Given the description of an element on the screen output the (x, y) to click on. 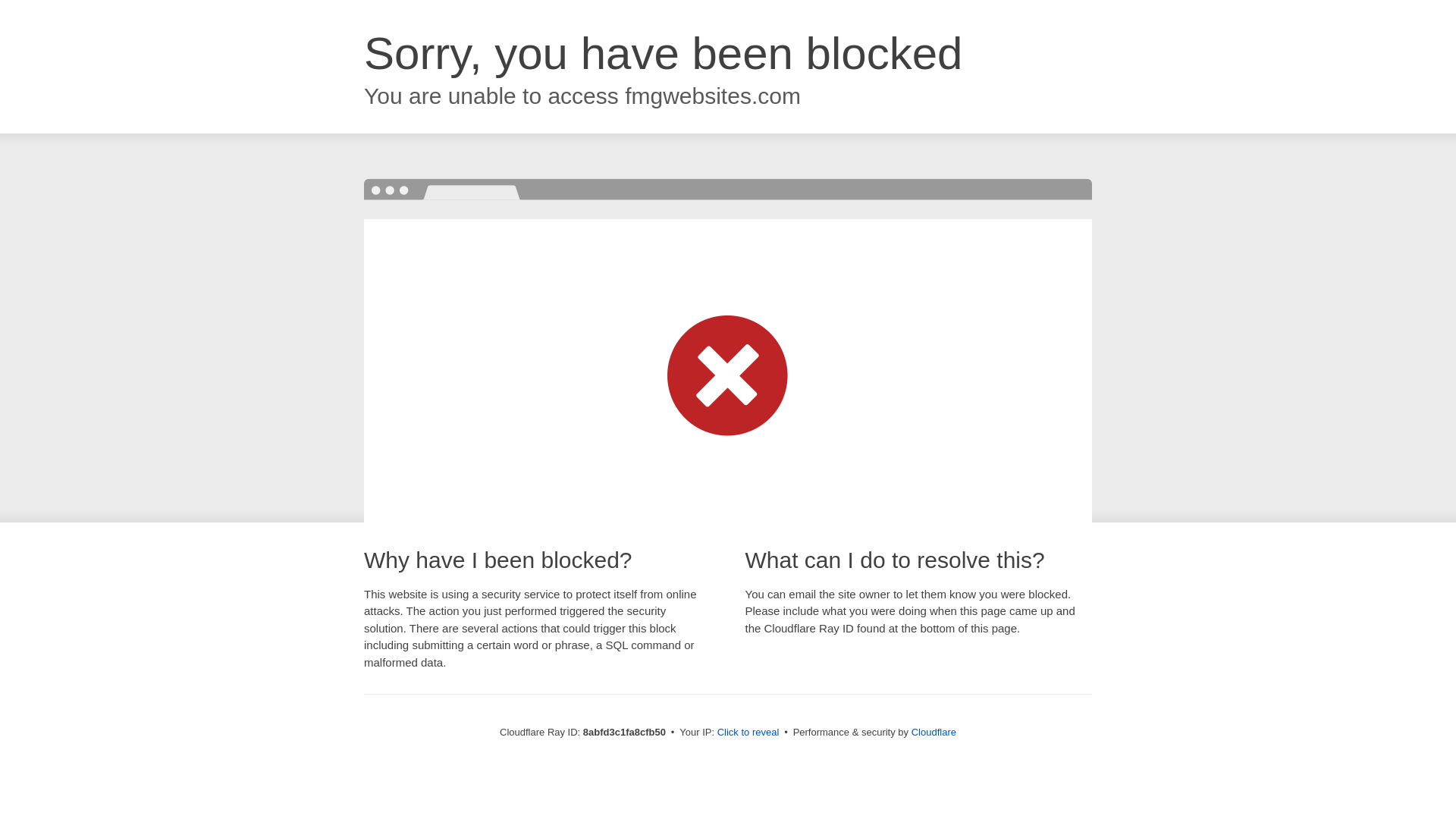
Cloudflare (933, 731)
Click to reveal (747, 732)
